Given the description of an element on the screen output the (x, y) to click on. 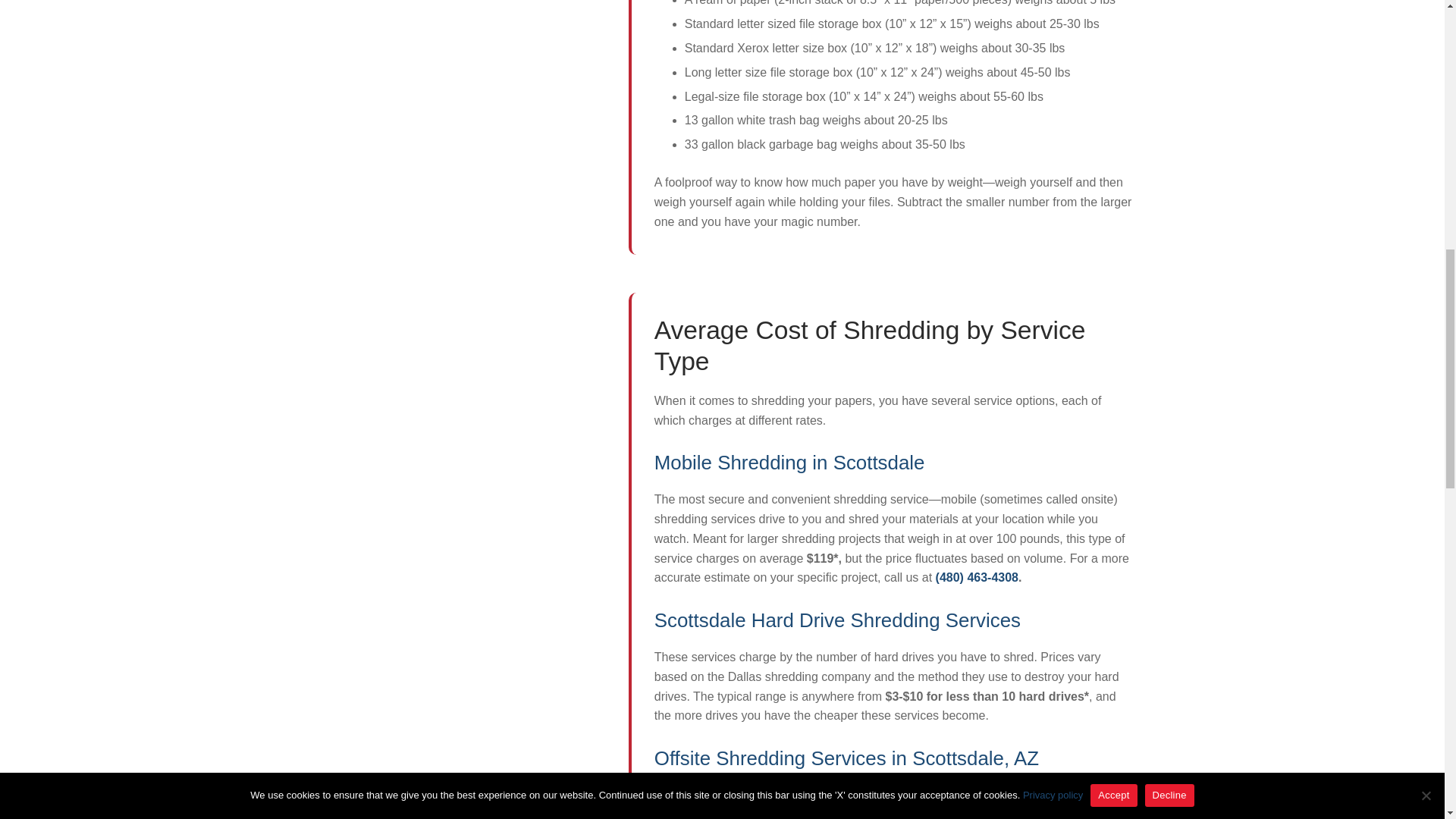
Offsite Shredding Services in Scottsdale, AZ (846, 758)
Mobile Shredding in Scottsdale (788, 462)
Scottsdale Hard Drive Shredding Services (836, 619)
